Given the description of an element on the screen output the (x, y) to click on. 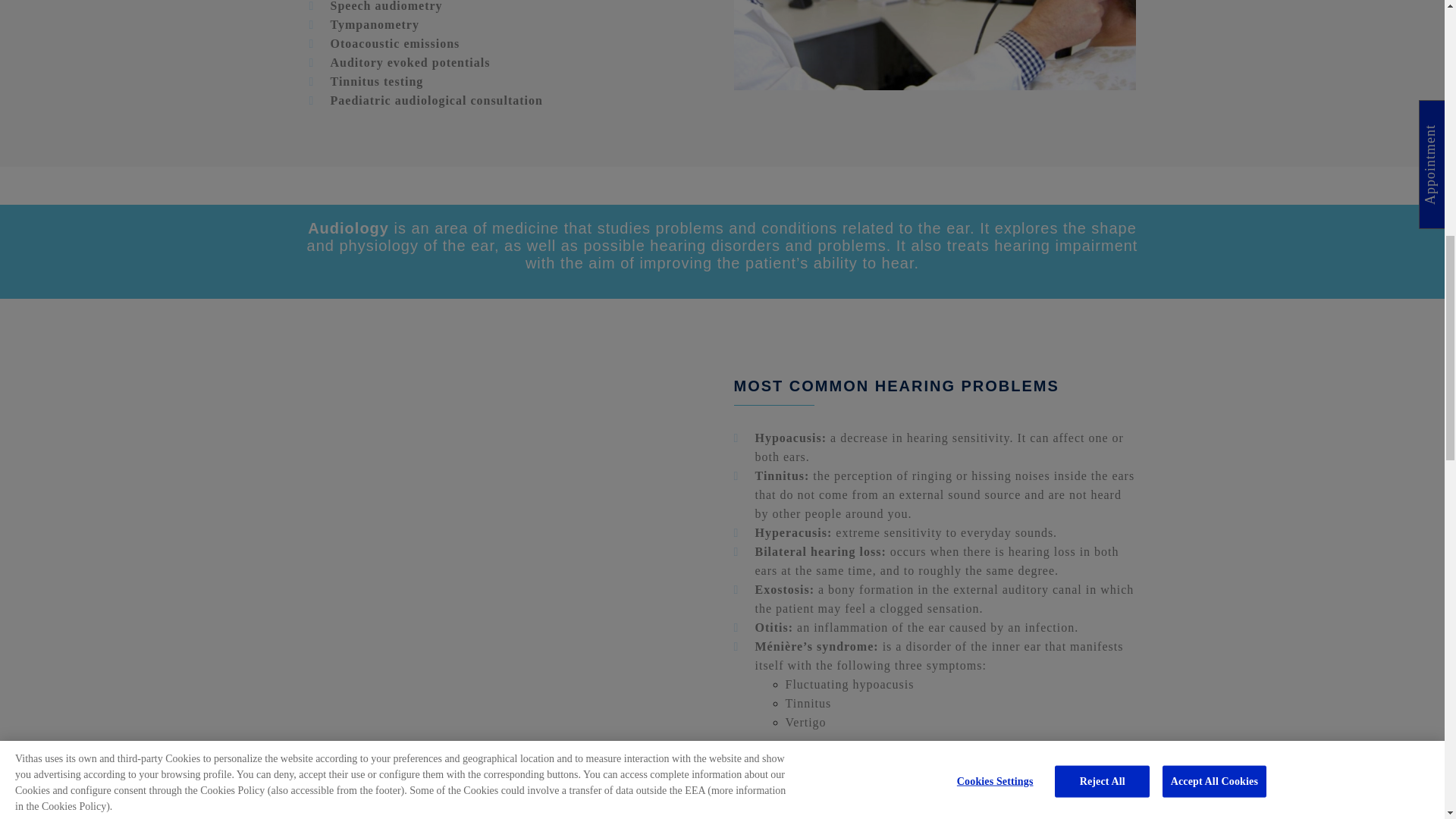
exploracion-audiologia (934, 45)
